Given the description of an element on the screen output the (x, y) to click on. 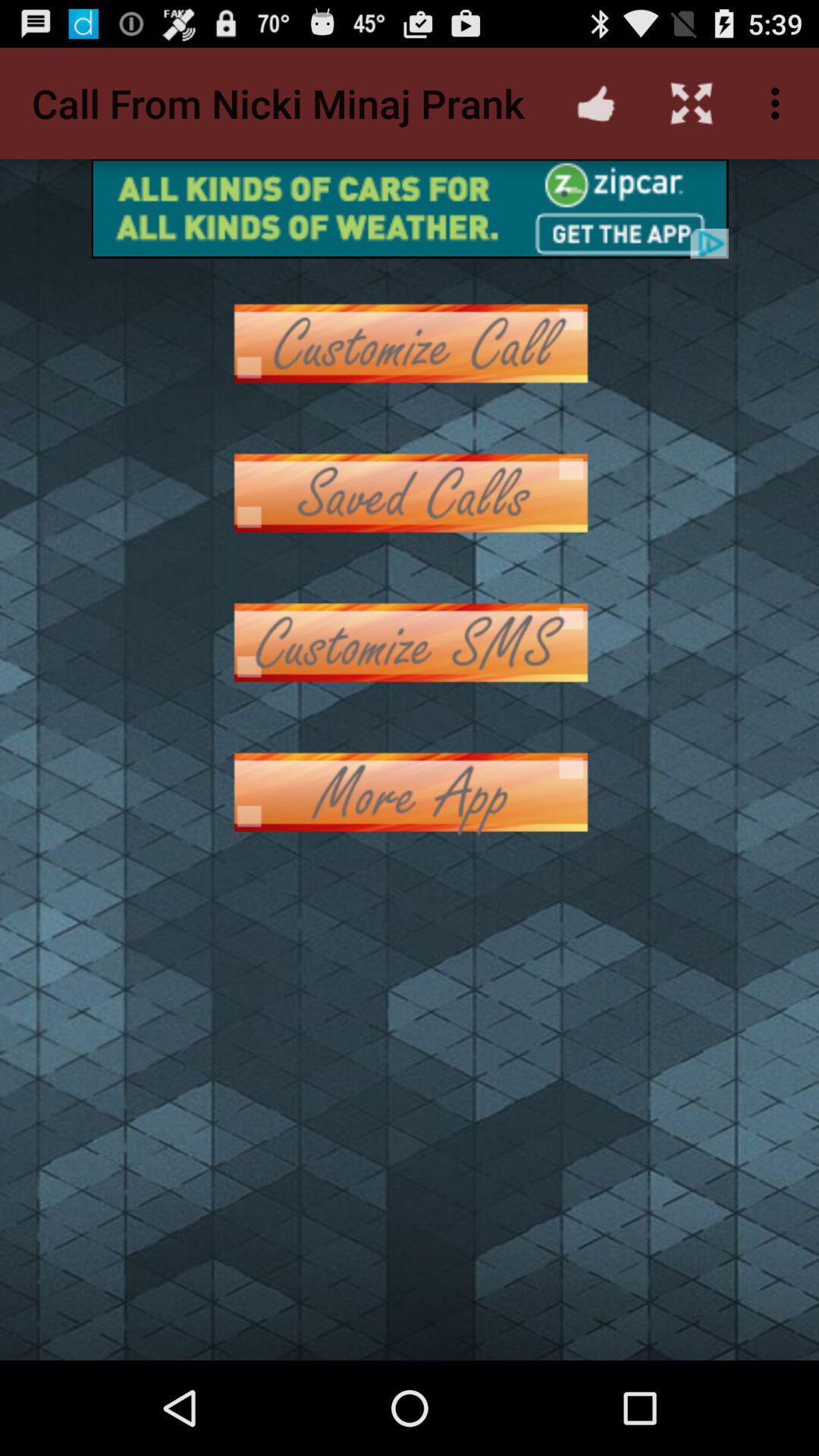
view more apps (409, 792)
